Given the description of an element on the screen output the (x, y) to click on. 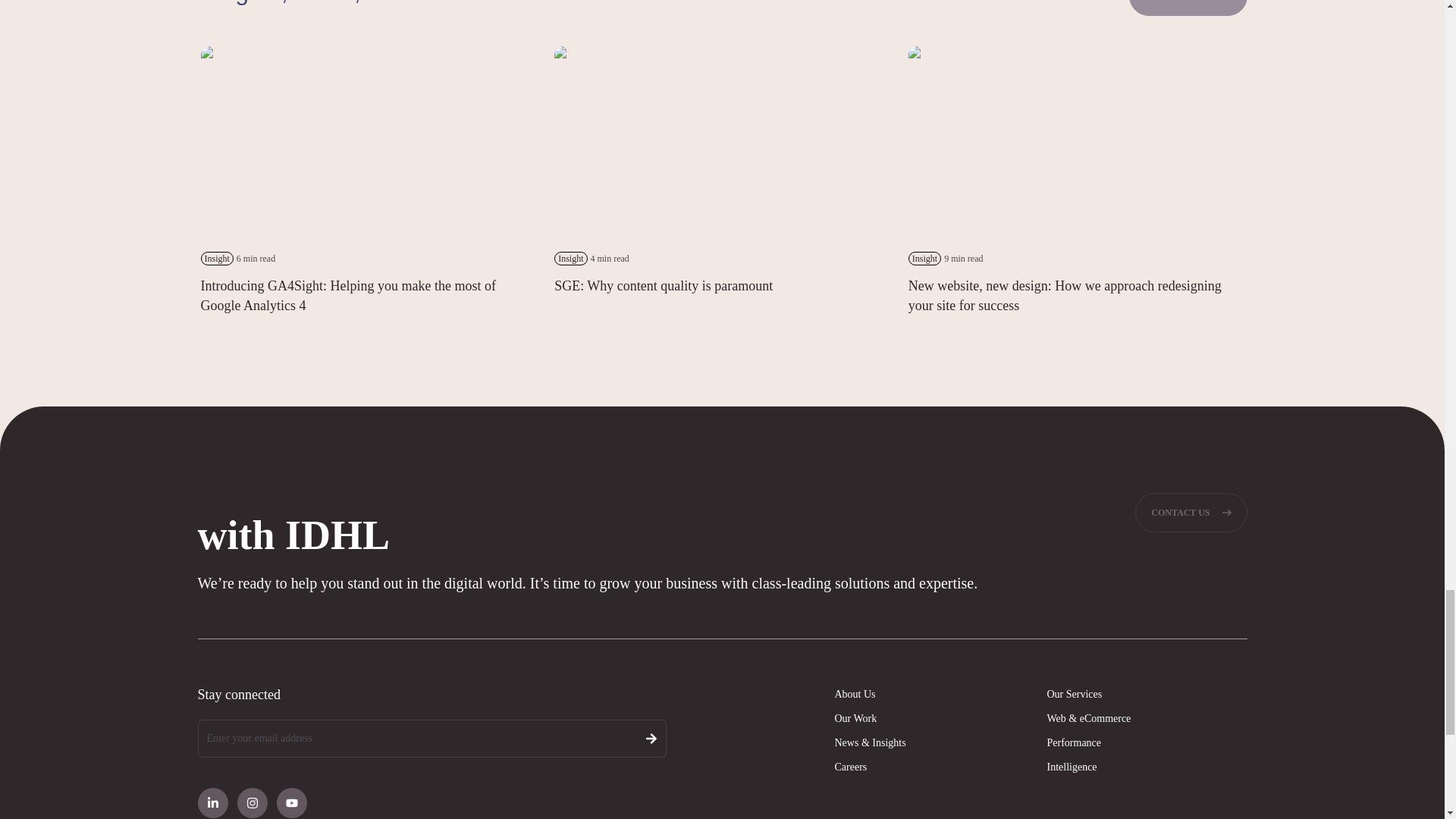
CONTACT US (1190, 512)
ALL INSIGHTS (1187, 7)
